Given the description of an element on the screen output the (x, y) to click on. 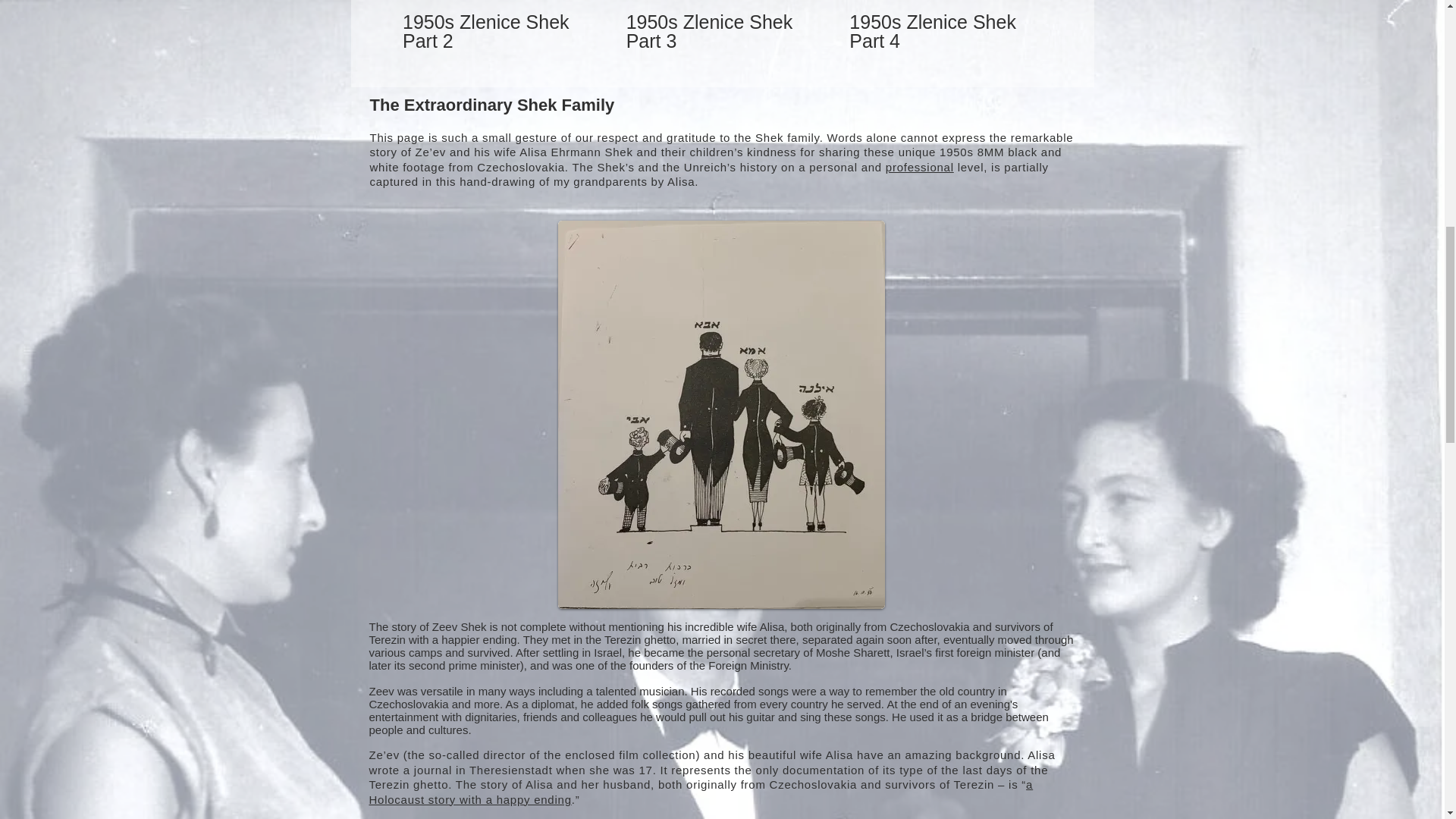
1950s Zlenice Shek Part 4 (946, 26)
1950s Zlenice Shek Part 2 (498, 31)
1950s Zlenice Shek Part 3 (722, 26)
1950s Zlenice Shek Part 2 (498, 26)
1950s Zlenice Shek Part 4 (945, 31)
1950s Zlenice Shek Part 3 (722, 31)
professional (919, 166)
